Given the description of an element on the screen output the (x, y) to click on. 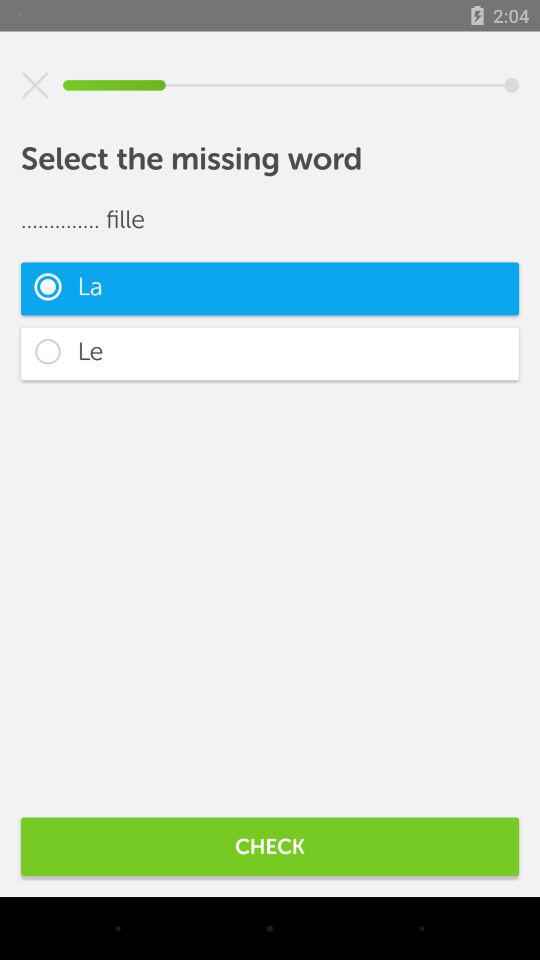
turn off item above le item (270, 288)
